Given the description of an element on the screen output the (x, y) to click on. 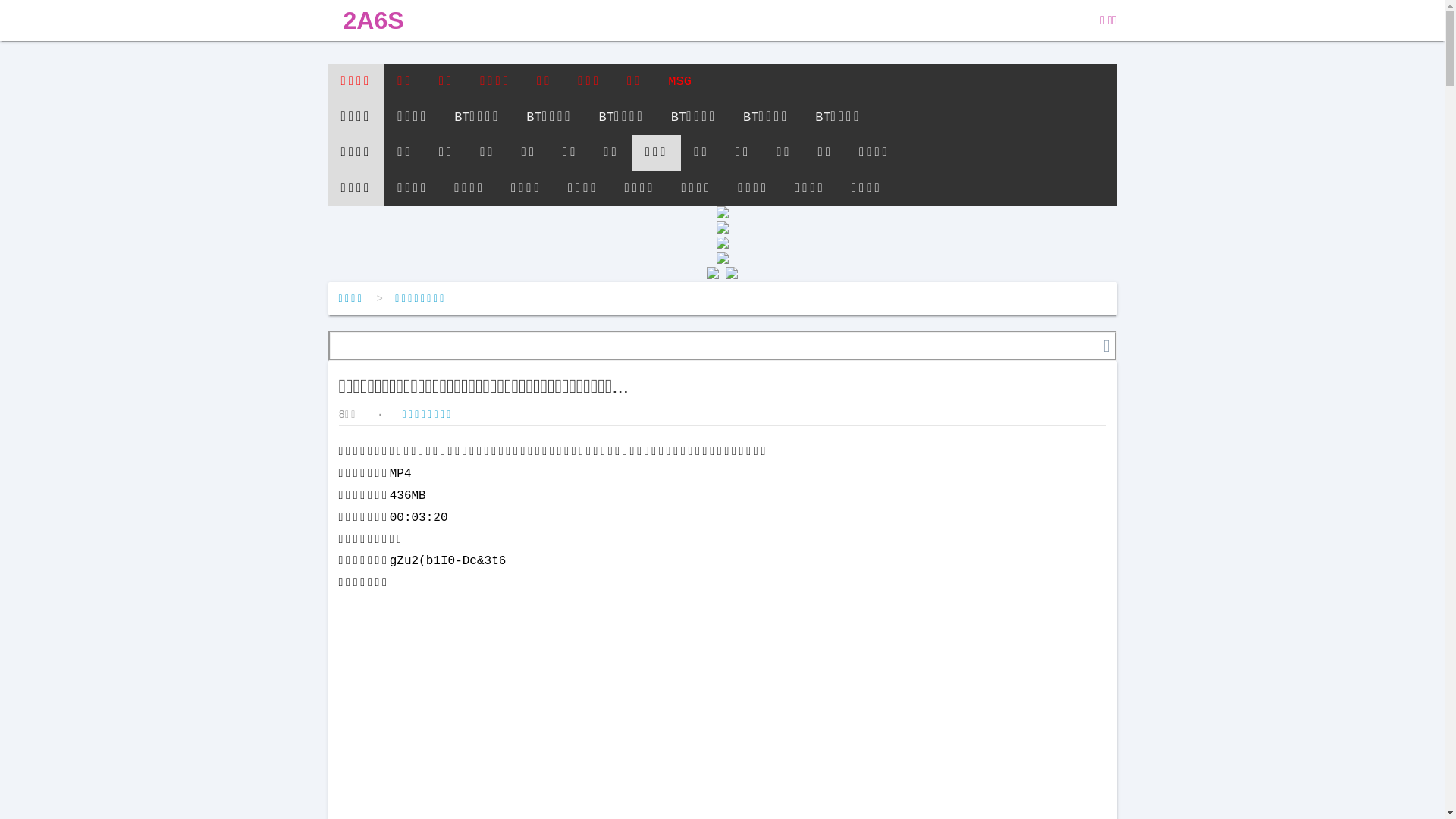
MSG Element type: text (679, 81)
2A6S Element type: text (372, 20)
